Given the description of an element on the screen output the (x, y) to click on. 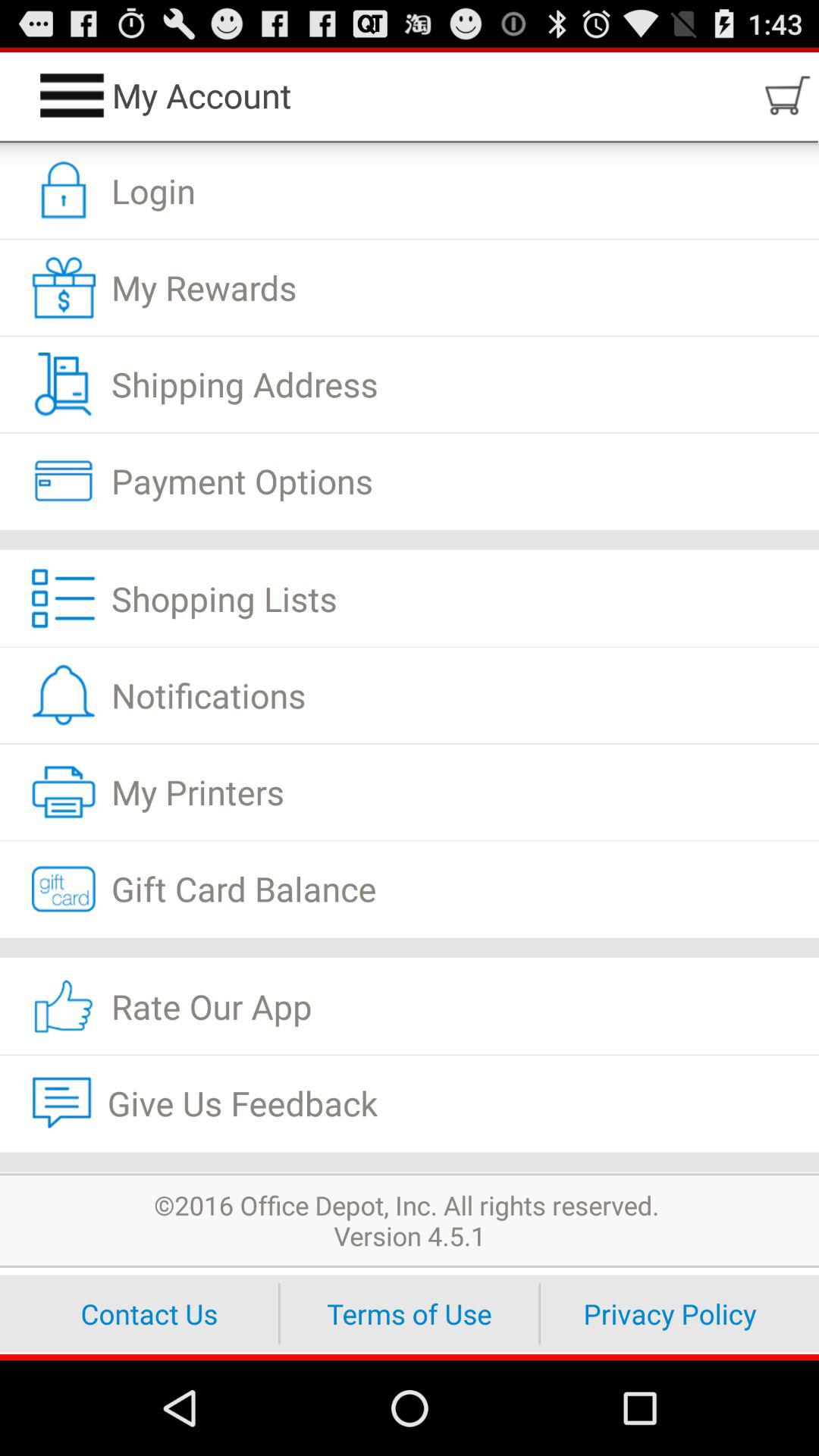
select item below the shopping lists item (409, 695)
